Given the description of an element on the screen output the (x, y) to click on. 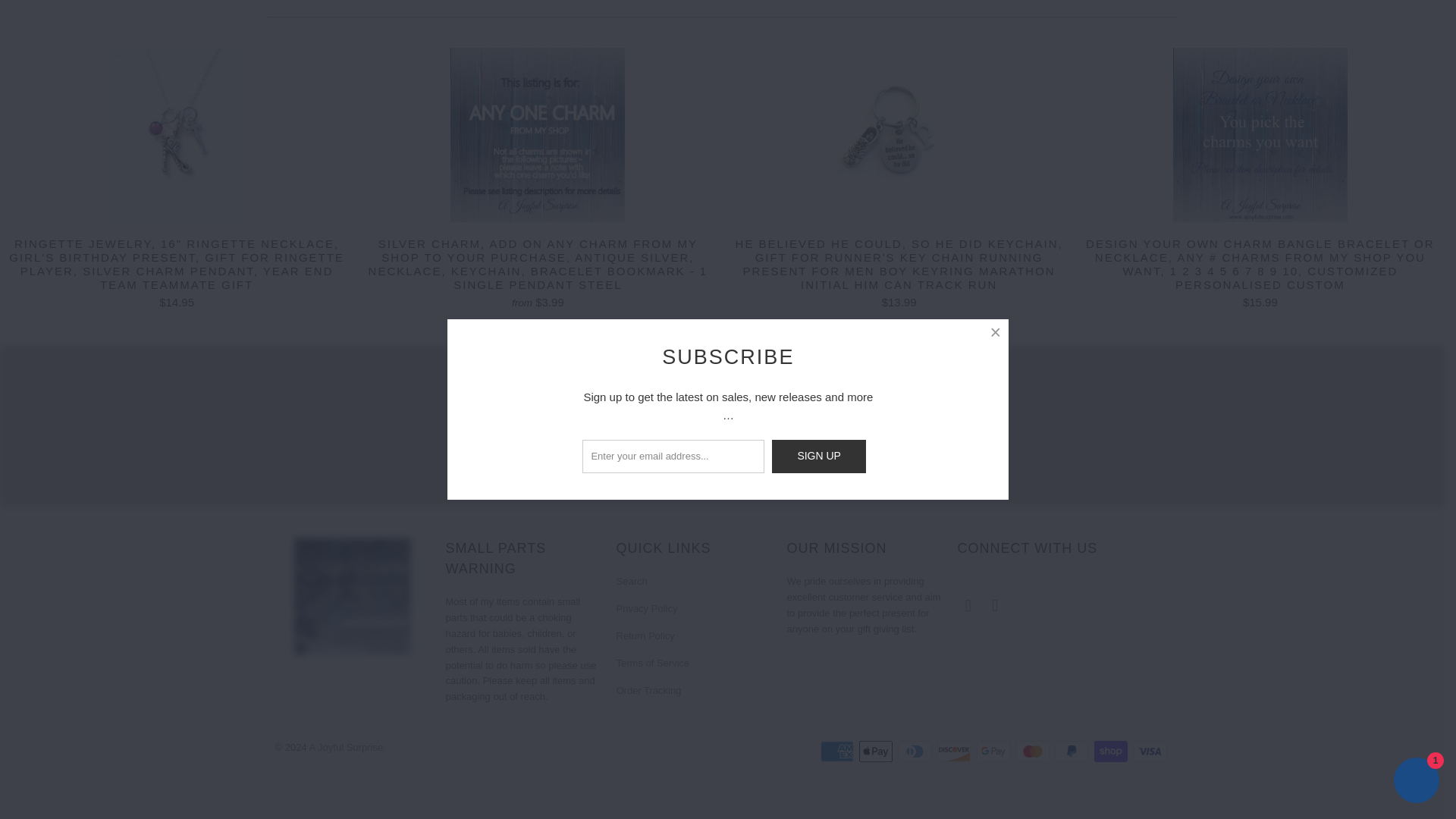
Discover (955, 751)
Shop Pay (1112, 751)
Visa (1150, 751)
PayPal (1072, 751)
American Express (839, 751)
Google Pay (994, 751)
Mastercard (1034, 751)
Apple Pay (877, 751)
Diners Club (916, 751)
